Given the description of an element on the screen output the (x, y) to click on. 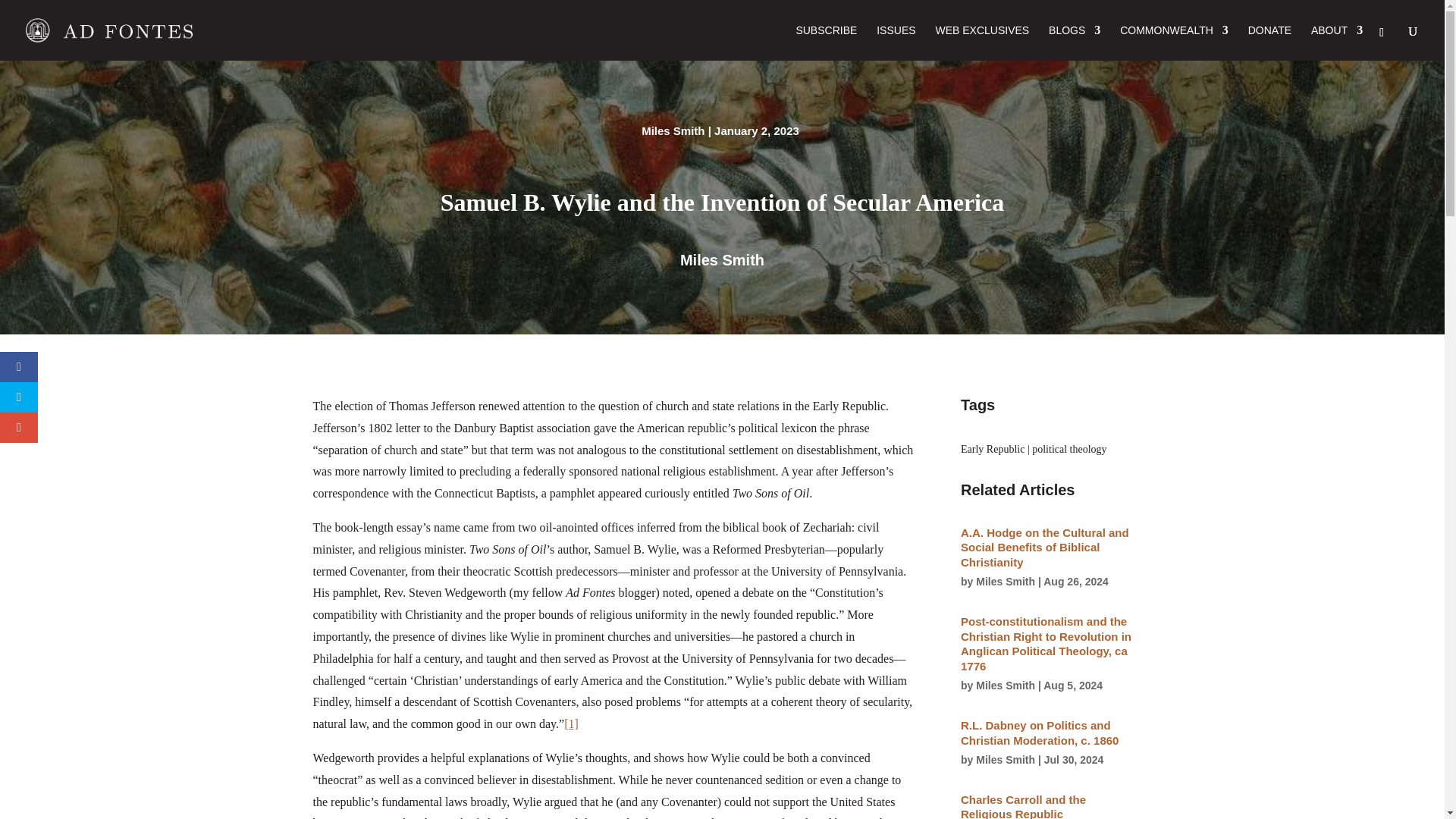
SUBSCRIBE (825, 42)
COMMONWEALTH (1173, 42)
BLOGS (1074, 42)
ISSUES (895, 42)
WEB EXCLUSIVES (981, 42)
ABOUT (1336, 42)
DONATE (1269, 42)
Posts by Miles Smith (1005, 759)
Miles Smith (721, 259)
Posts by Miles Smith (1005, 685)
